Given the description of an element on the screen output the (x, y) to click on. 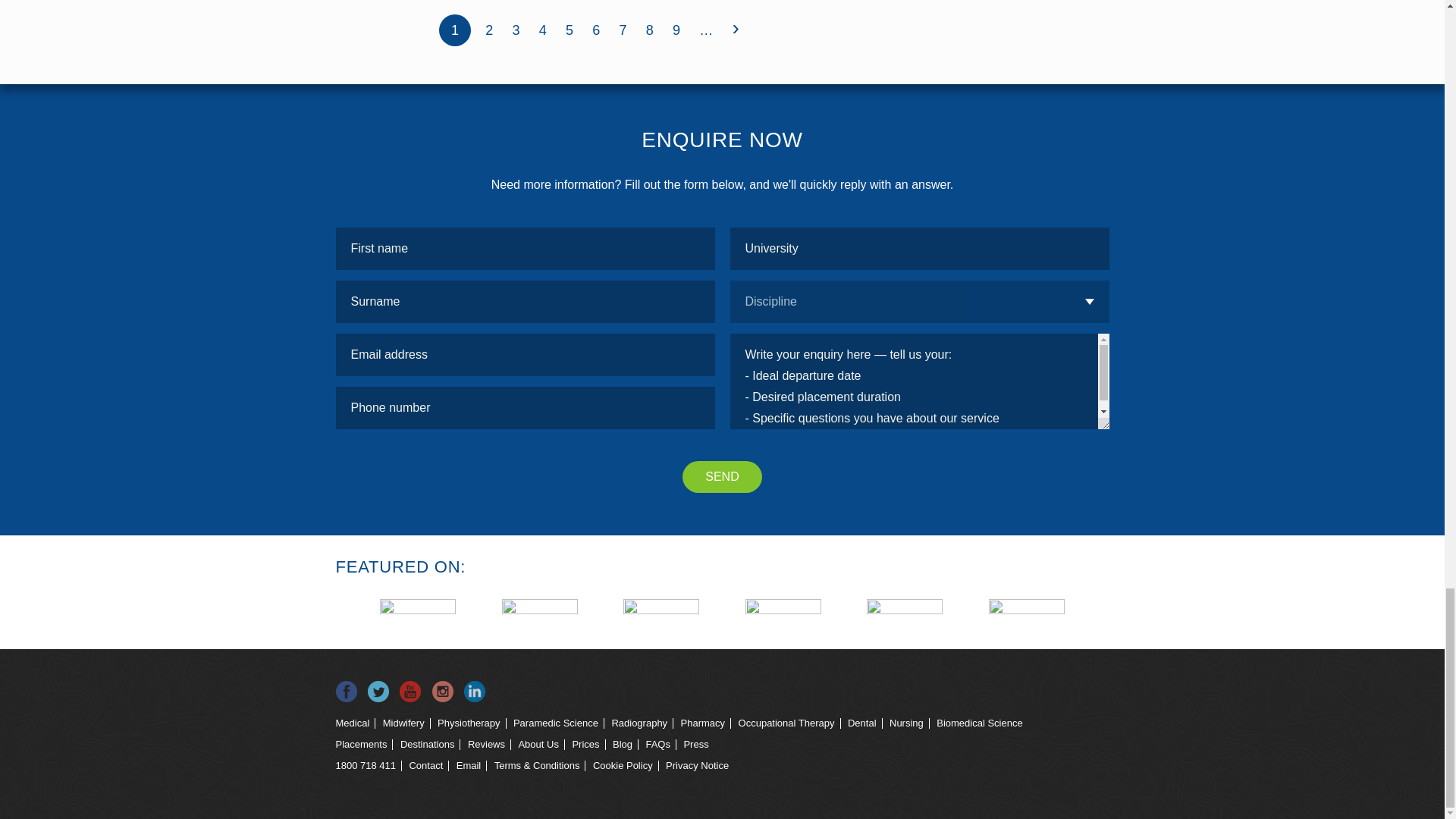
Send (721, 477)
